Given the description of an element on the screen output the (x, y) to click on. 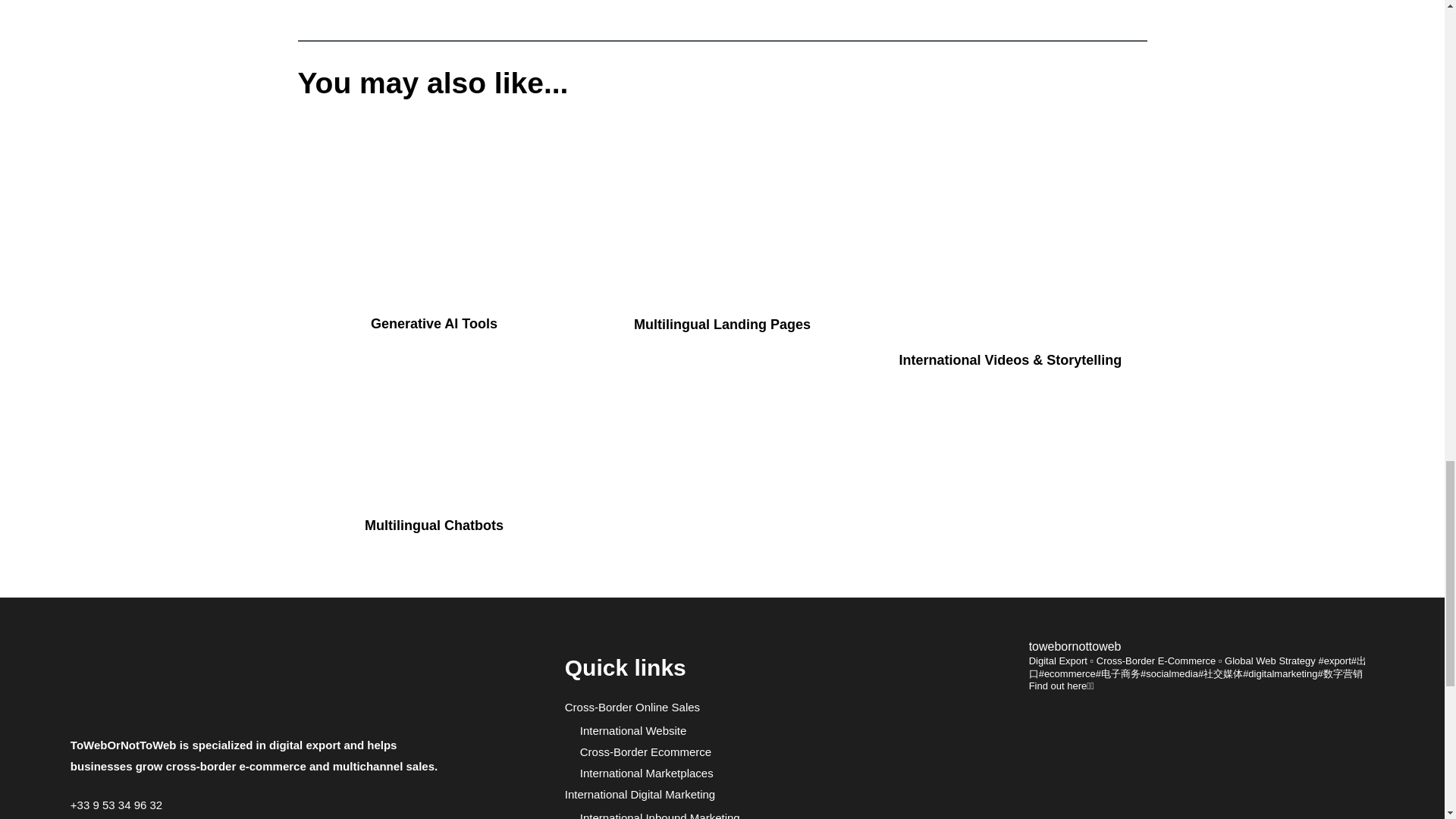
Multilingual Chatbots (434, 525)
chatbot multilingue (433, 445)
Multilingual Landing Pages (721, 324)
Generative AI Tools (434, 323)
